Given the description of an element on the screen output the (x, y) to click on. 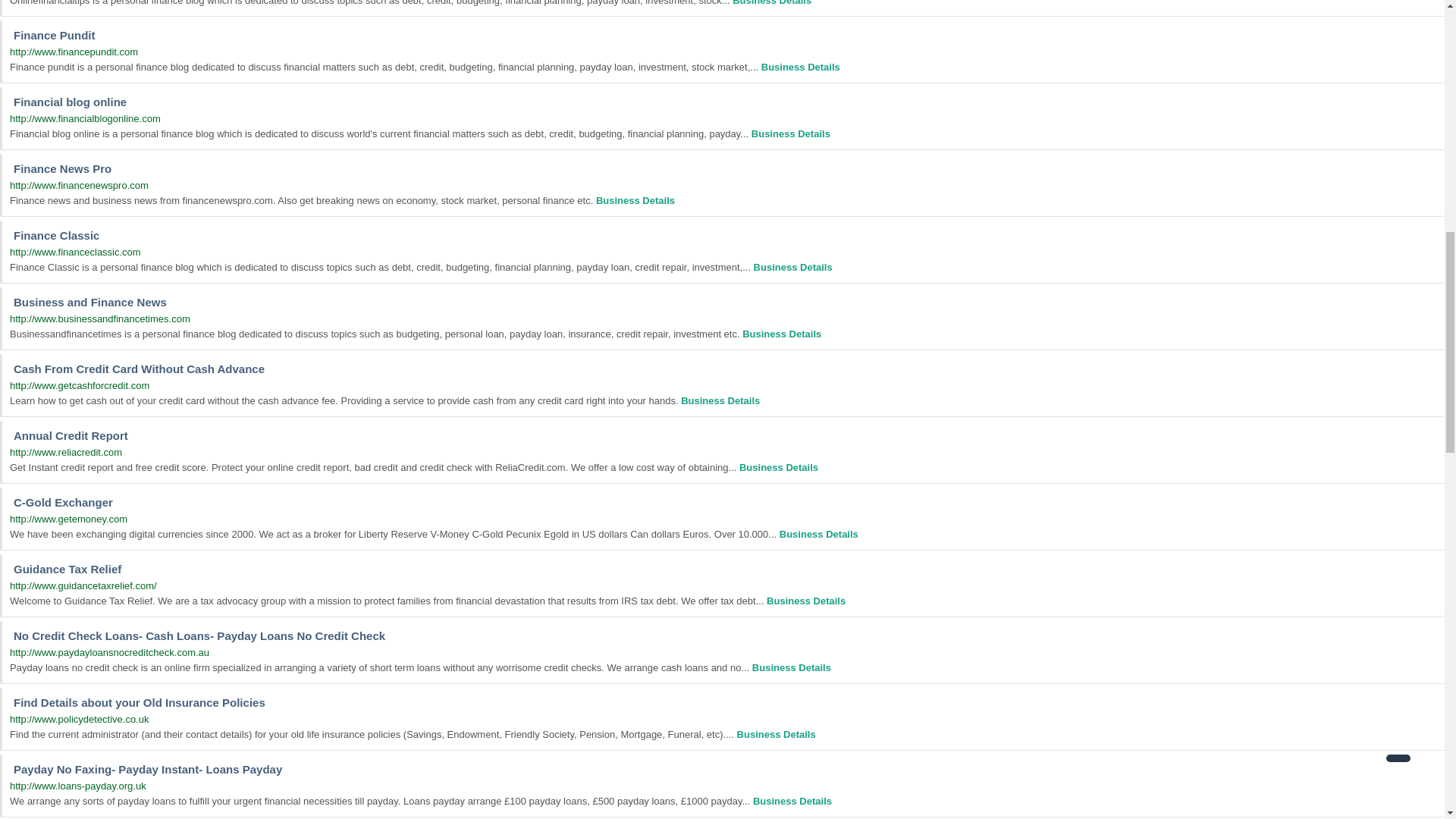
More about: Guidance Tax Relief (806, 600)
Business Details (790, 133)
More about: Financial blog online (790, 133)
More about: Business and Finance News (781, 333)
More about: Online Financial Tips (771, 2)
More about: Cash From Credit Card Without Cash Advance (720, 400)
Business Details (800, 66)
More about: C-Gold Exchanger (818, 533)
Business Details (771, 2)
More about: Finance News Pro (635, 200)
More about: Finance Classic (793, 266)
